Given the description of an element on the screen output the (x, y) to click on. 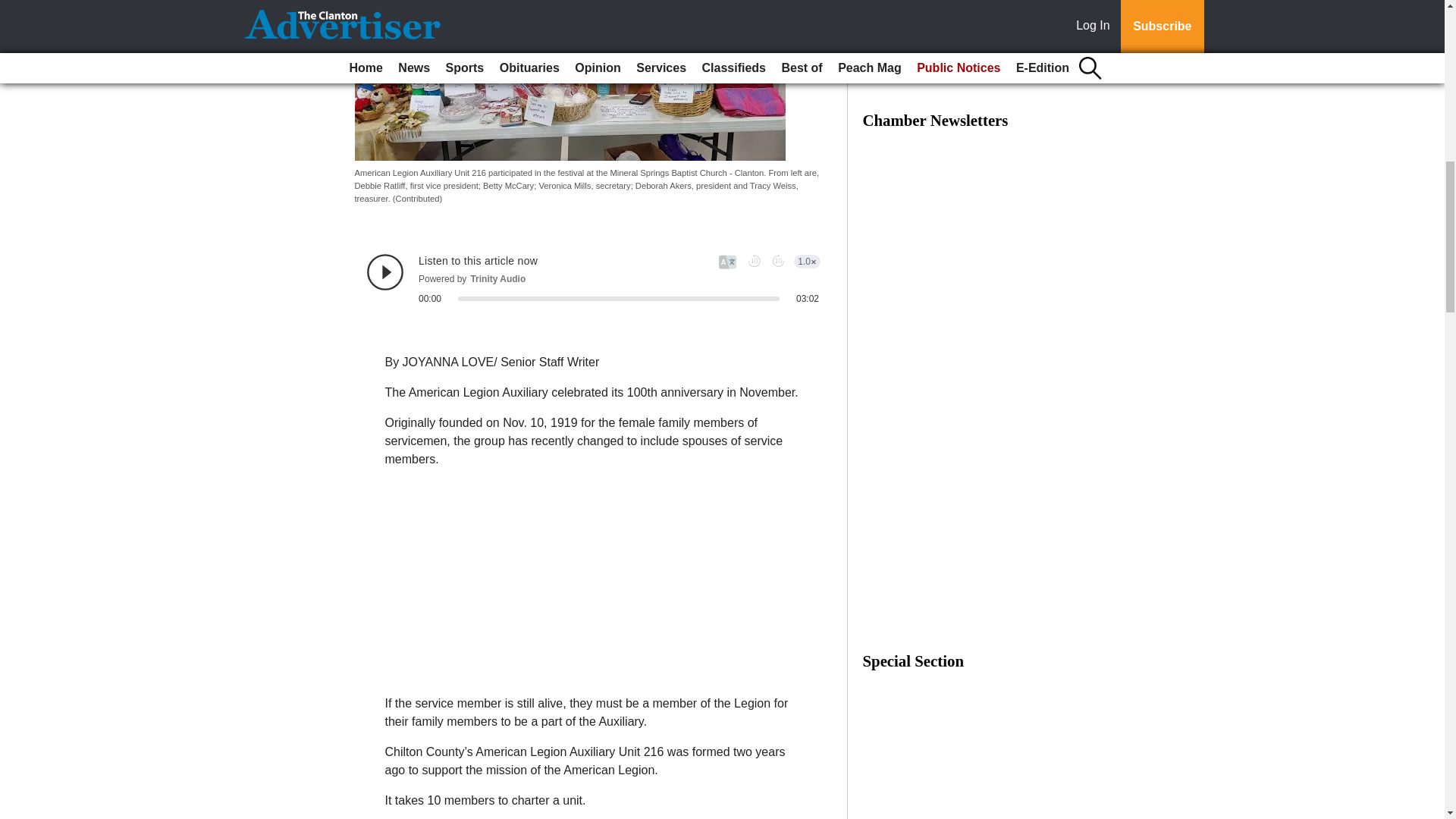
Trinity Audio Player (592, 279)
